Given the description of an element on the screen output the (x, y) to click on. 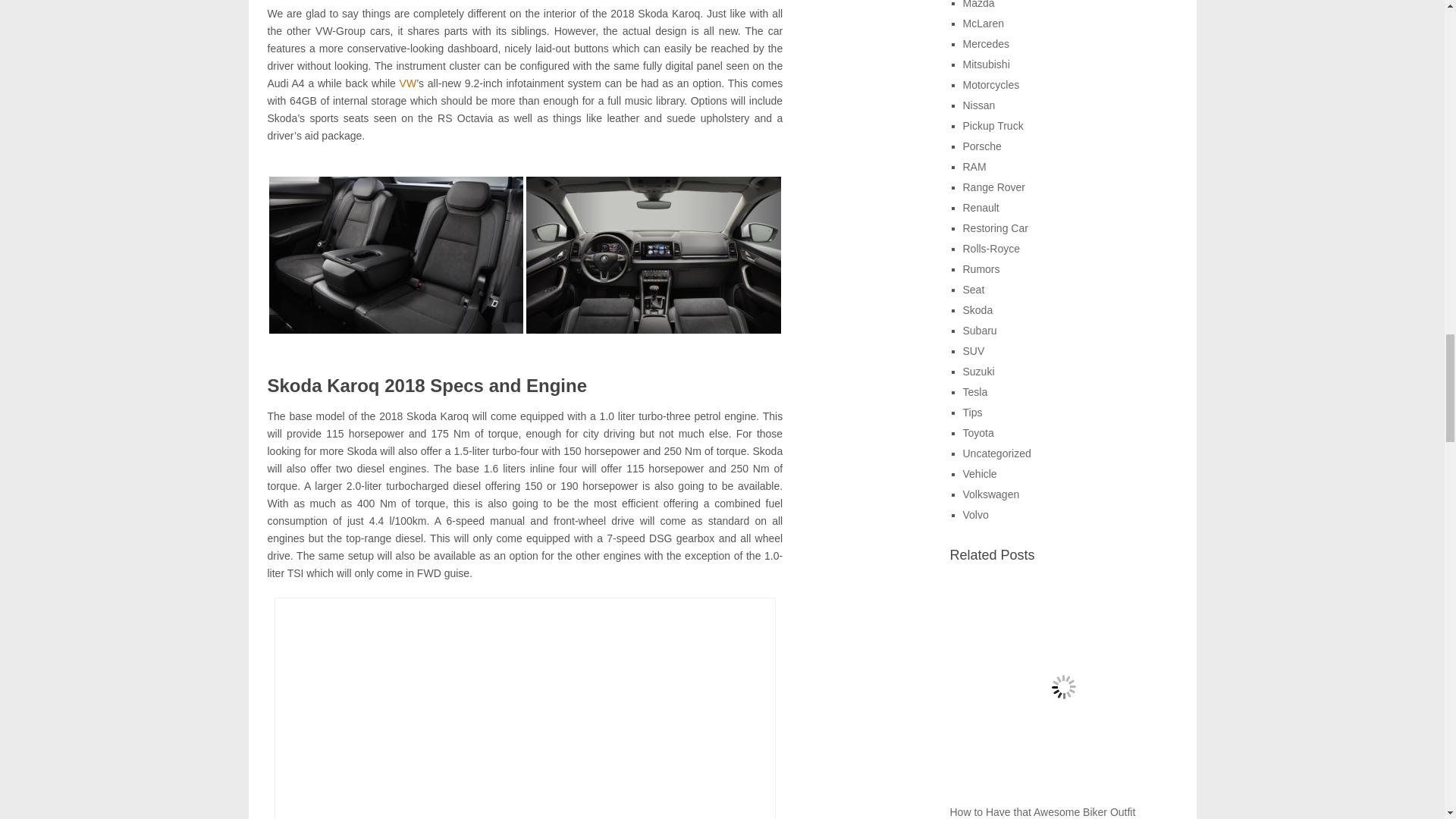
VW (407, 82)
2018 Skoda Karoq 8 (524, 710)
2018-Skoda-Karoq-interior-1 (652, 254)
2018-Skoda-Karoq-interior (394, 254)
